Given the description of an element on the screen output the (x, y) to click on. 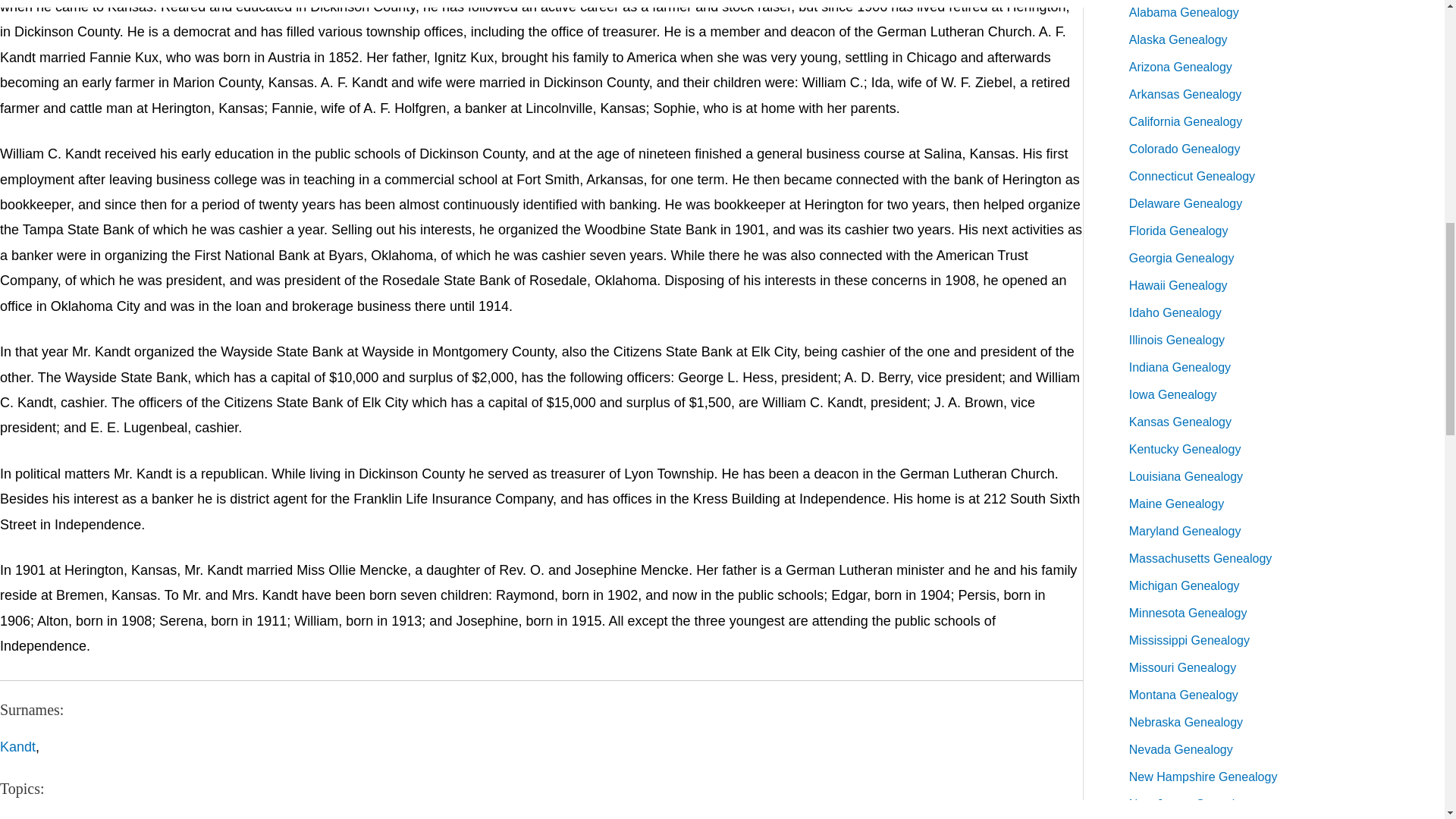
Arizona Genealogy (1180, 66)
Alabama Genealogy (1184, 11)
Arkansas Genealogy (1185, 93)
Biography (30, 818)
Alaska Genealogy (1178, 39)
Kandt (17, 746)
Alabama Genealogy (1184, 11)
